Given the description of an element on the screen output the (x, y) to click on. 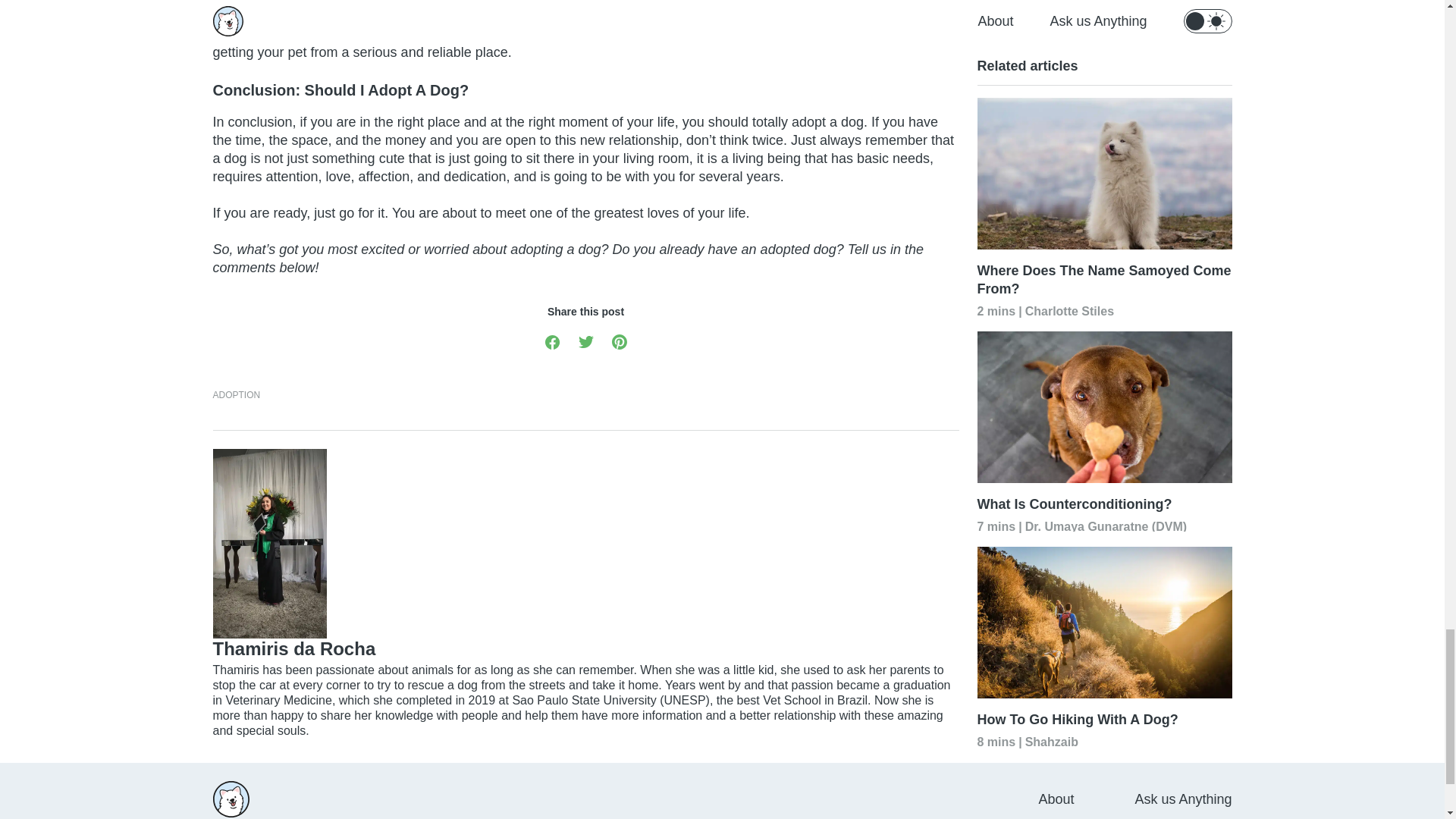
Ask us Anything (1182, 798)
ADOPTION (236, 394)
Share this post on Twitter (585, 341)
About (1056, 798)
Share this post on Facebook (551, 341)
Pin this post on Pinterest (618, 341)
